Given the description of an element on the screen output the (x, y) to click on. 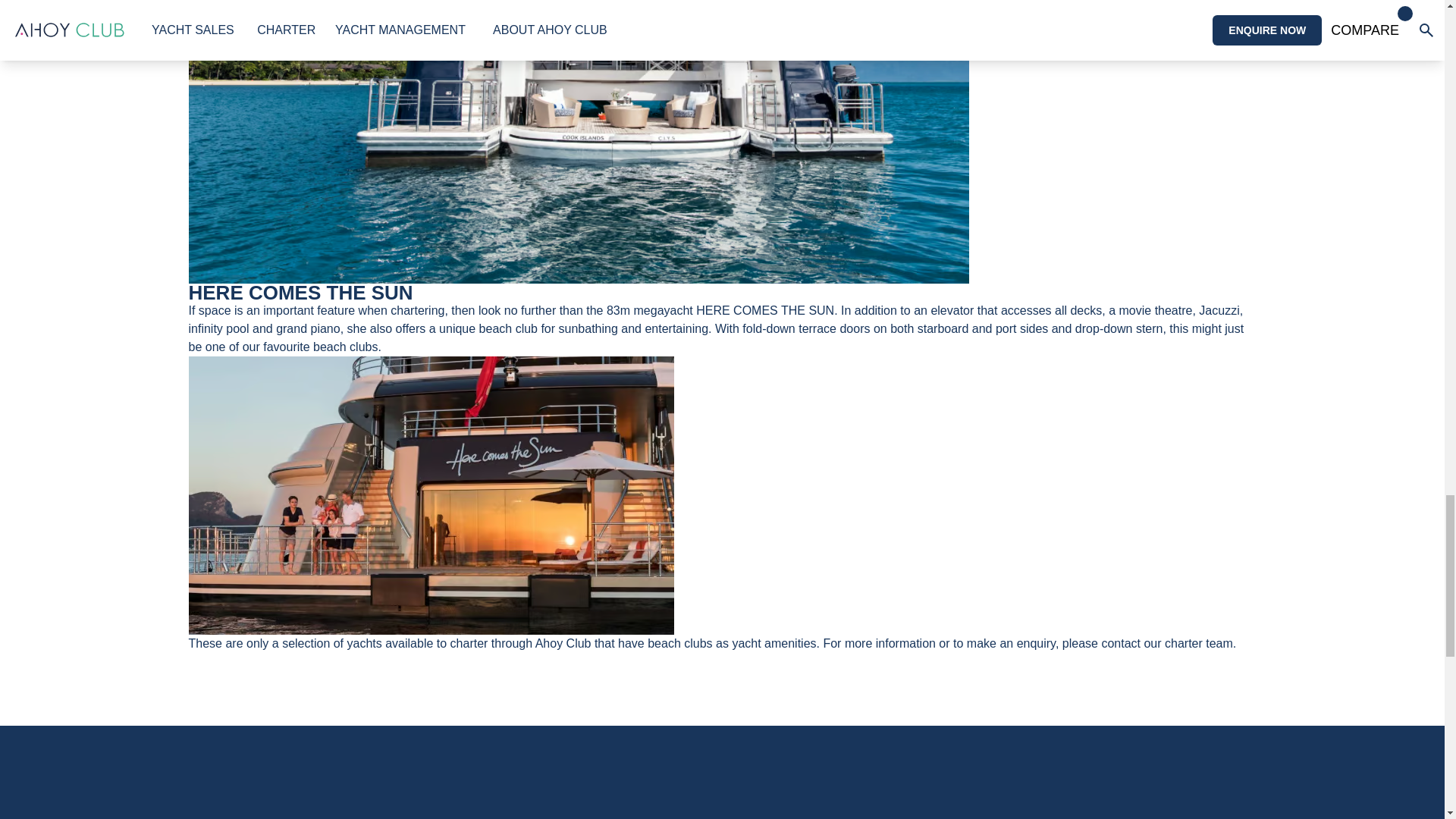
Contact (1149, 643)
